Given the description of an element on the screen output the (x, y) to click on. 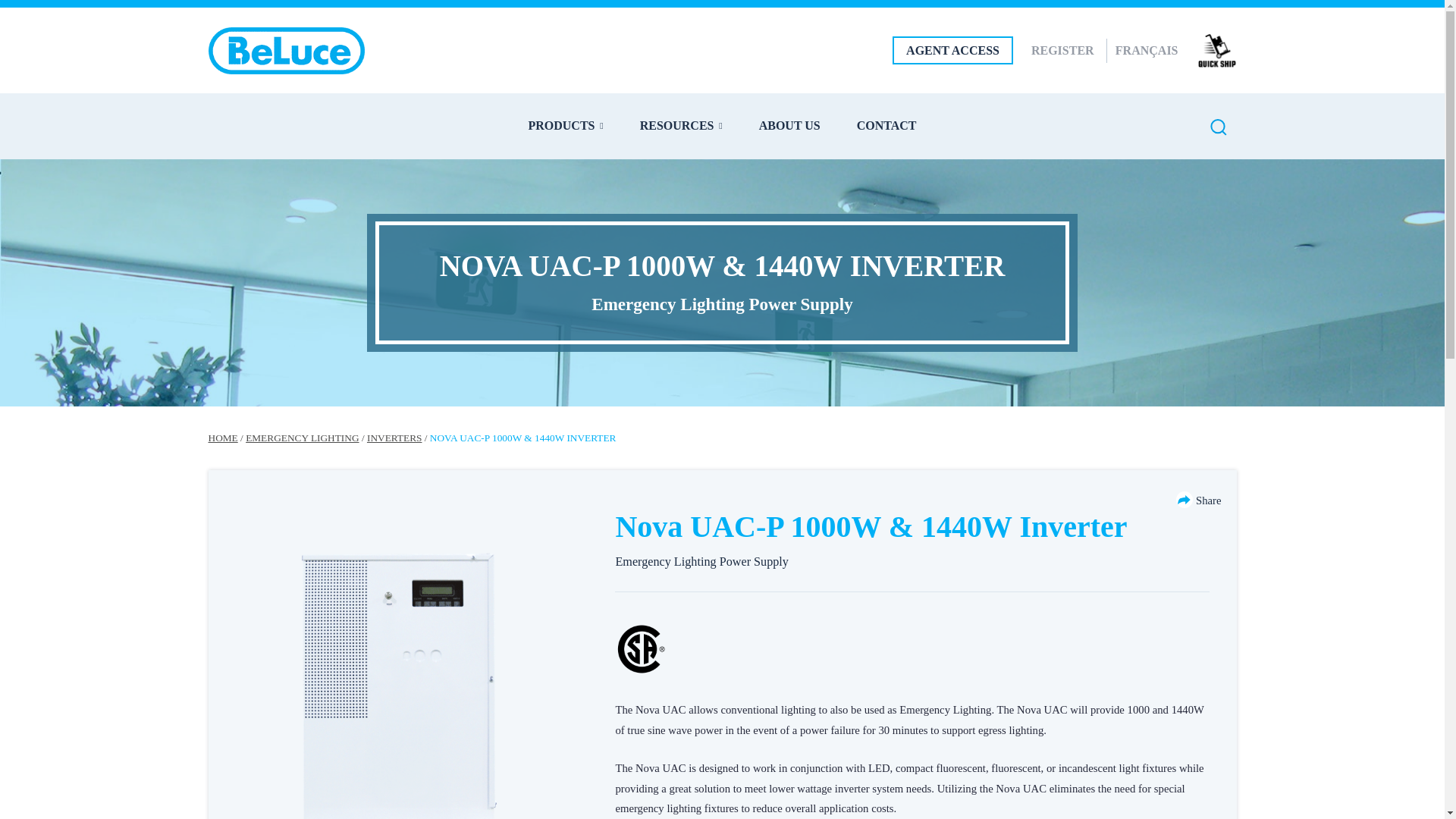
AGENT ACCESS (952, 50)
CONTACT (887, 125)
RESOURCES (681, 125)
REGISTER (1062, 50)
ABOUT US (789, 125)
PRODUCTS (564, 125)
